Given the description of an element on the screen output the (x, y) to click on. 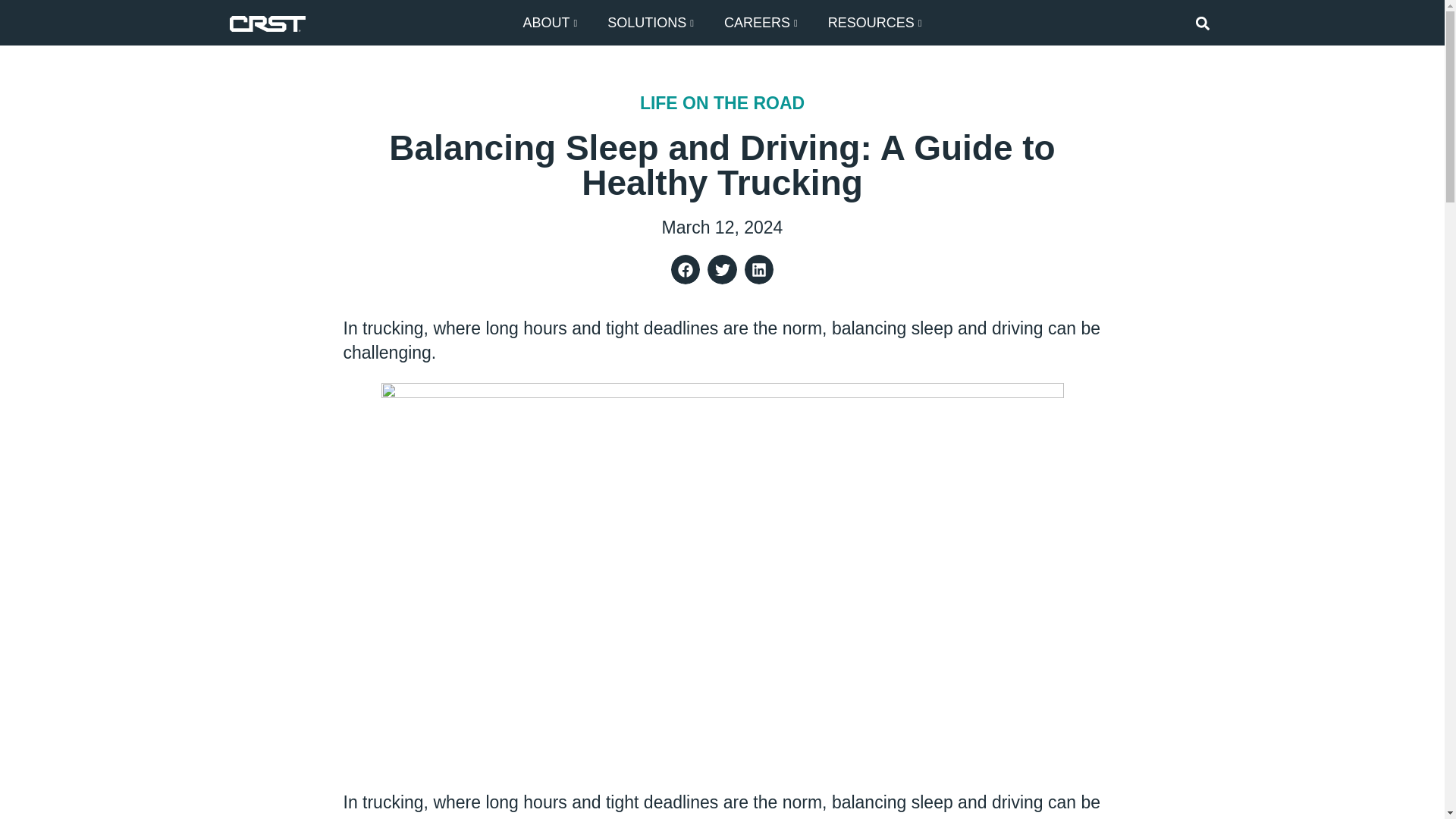
SOLUTIONS (650, 22)
CAREERS (760, 22)
RESOURCES (874, 22)
Truck driver sleep (516, 817)
LIFE ON THE ROAD (722, 103)
ABOUT (549, 22)
